Given the description of an element on the screen output the (x, y) to click on. 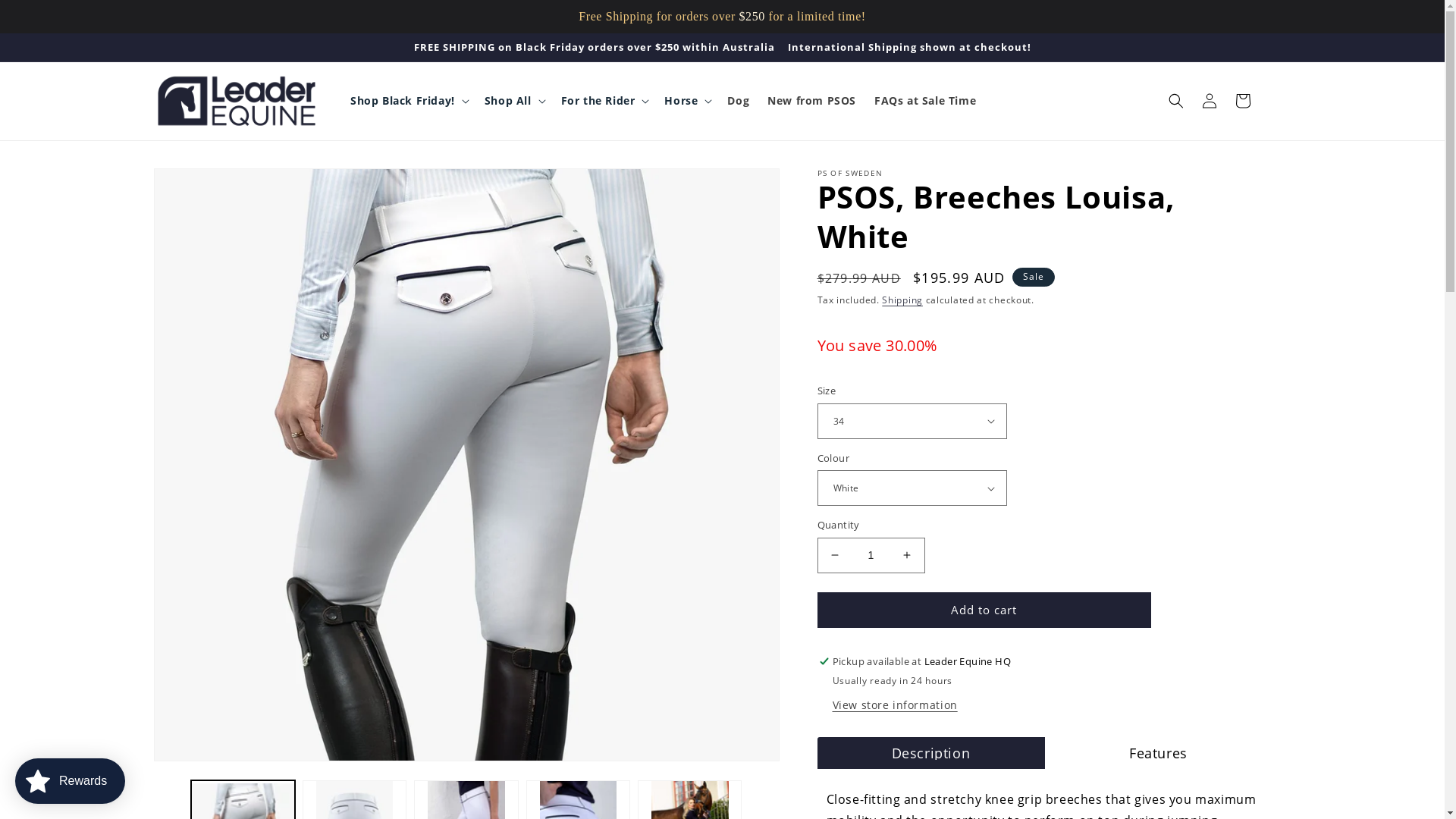
Skip to product information Element type: text (199, 185)
Cart Element type: text (1241, 100)
View store information Element type: text (894, 705)
Increase quantity for PSOS, Breeches Louisa, White Element type: text (907, 555)
Add to cart Element type: text (984, 609)
New from PSOS Element type: text (811, 100)
Shipping Element type: text (901, 299)
Decrease quantity for PSOS, Breeches Louisa, White Element type: text (834, 555)
FAQs at Sale Time Element type: text (925, 100)
customText Element type: text (1273, 100)
Log in Element type: text (1208, 100)
Dog Element type: text (738, 100)
